Given the description of an element on the screen output the (x, y) to click on. 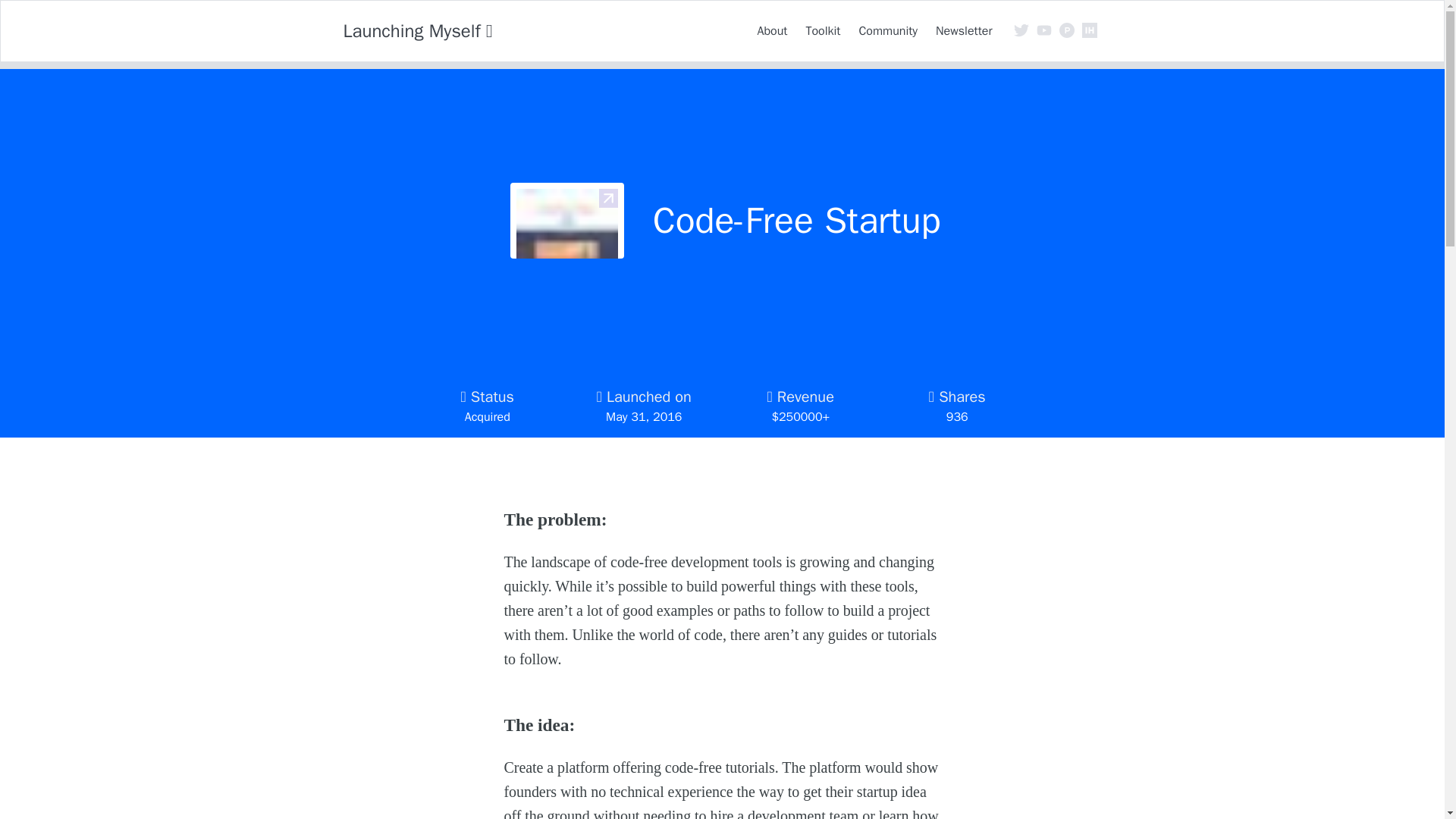
Community (888, 29)
Newsletter (963, 29)
About (772, 29)
Toolkit (822, 29)
